Given the description of an element on the screen output the (x, y) to click on. 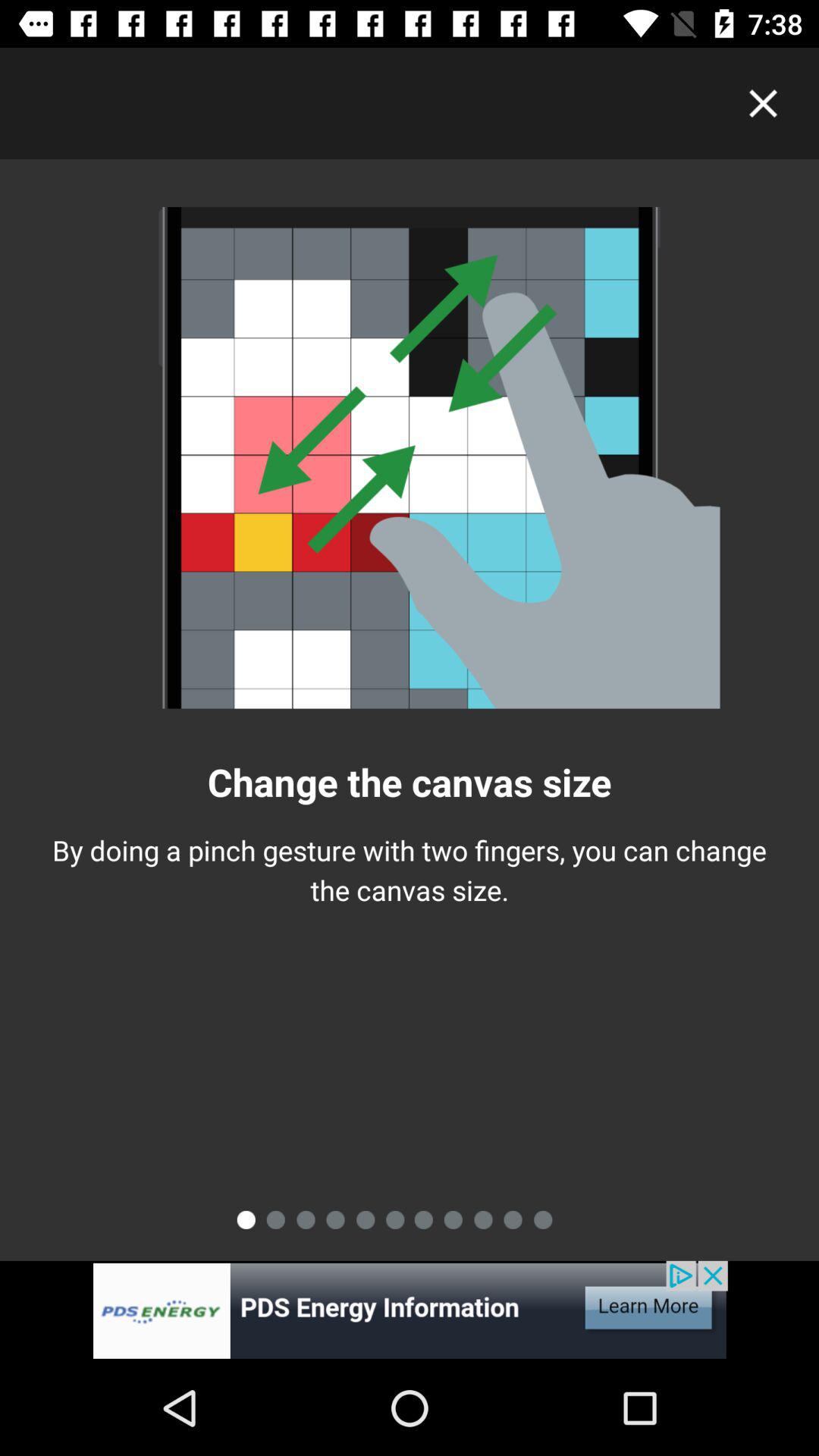
exit popup (763, 103)
